Given the description of an element on the screen output the (x, y) to click on. 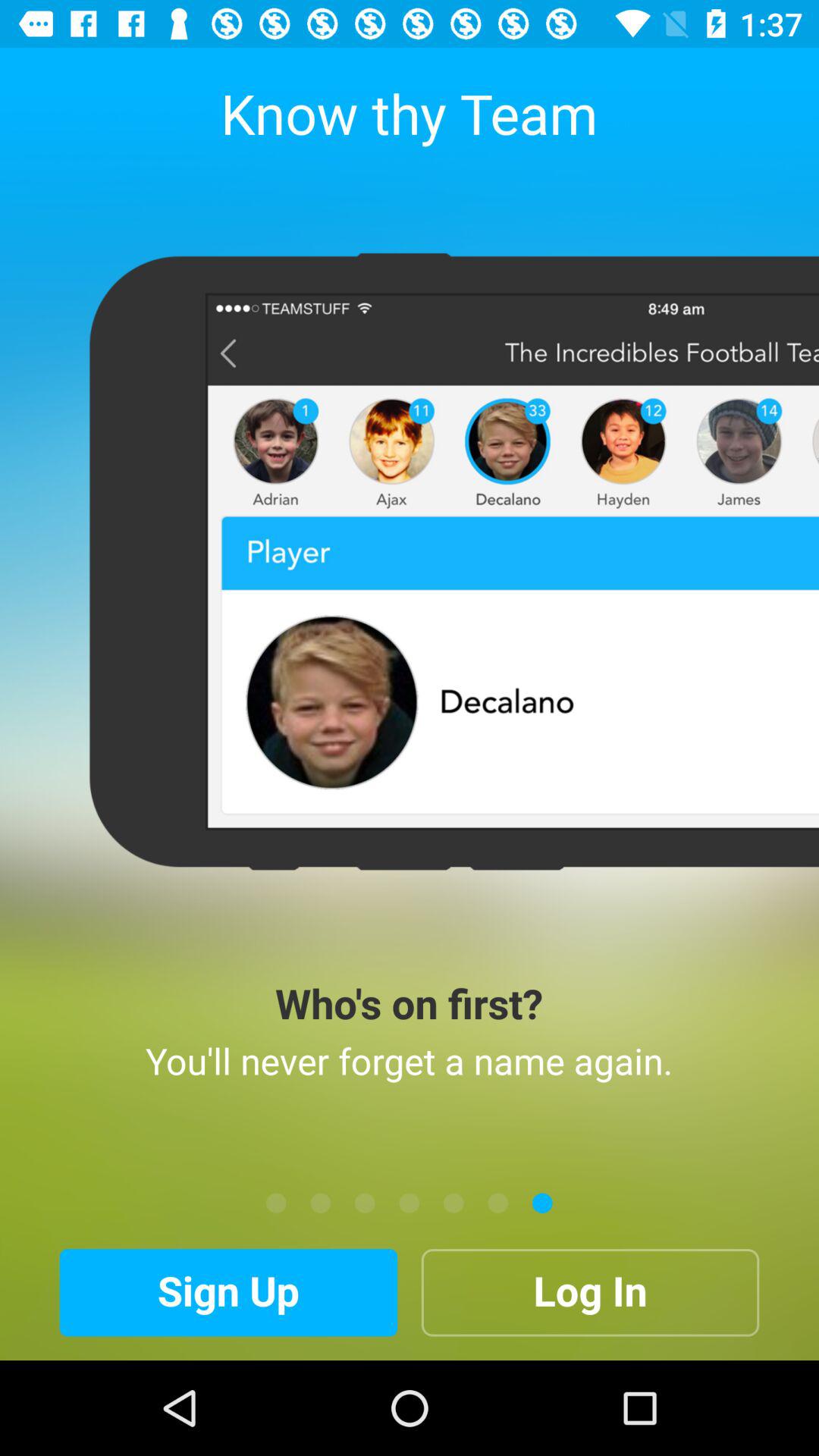
go to first page (276, 1203)
